Given the description of an element on the screen output the (x, y) to click on. 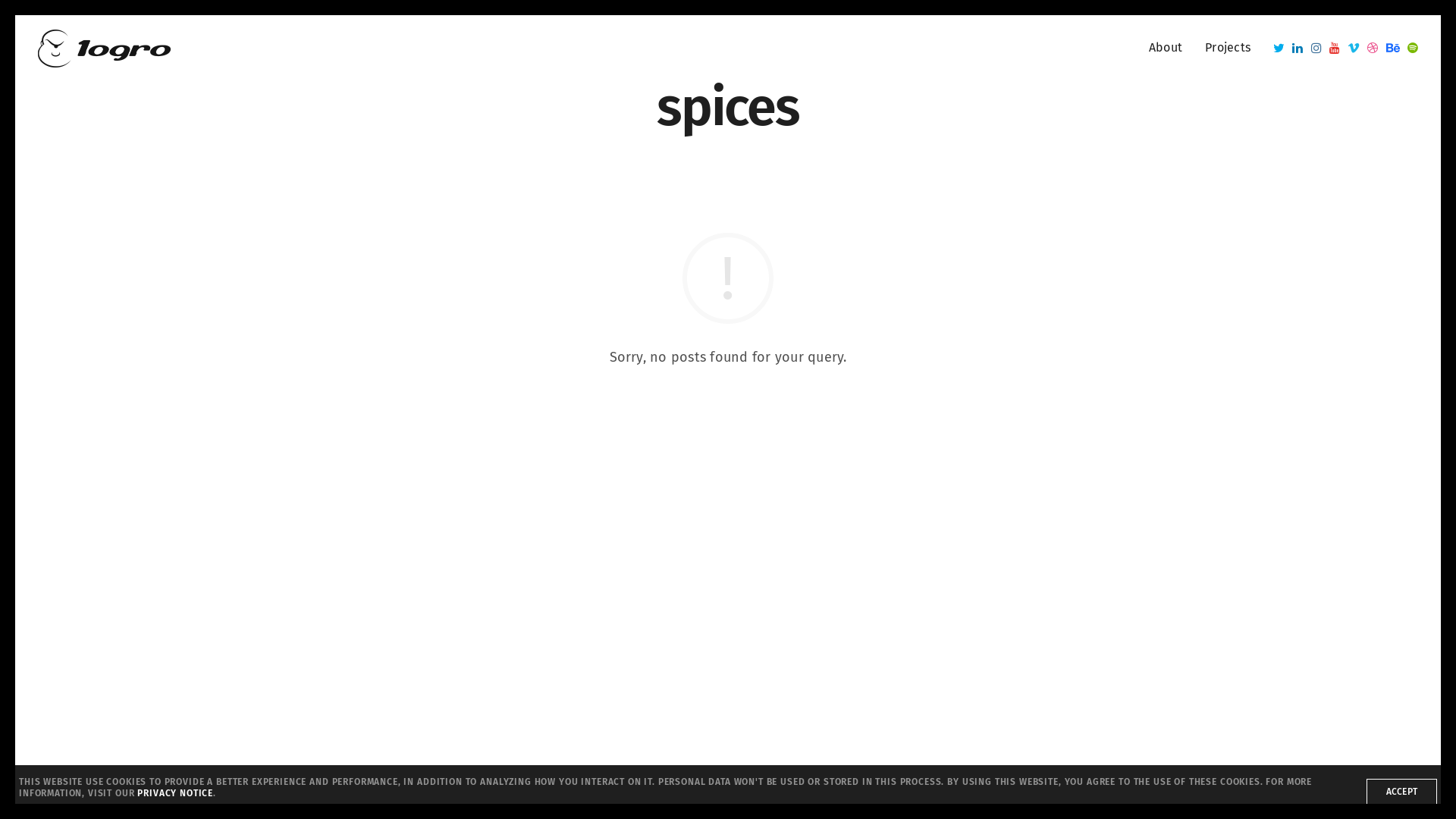
ACCEPT Element type: text (1401, 791)
1OGRO.COM | Portfolio Raul Queiroz Element type: hover (103, 47)
PRIVACY NOTICE Element type: text (175, 792)
Projects Element type: text (1227, 47)
About Element type: text (1165, 47)
Search Element type: text (47, 16)
